Given the description of an element on the screen output the (x, y) to click on. 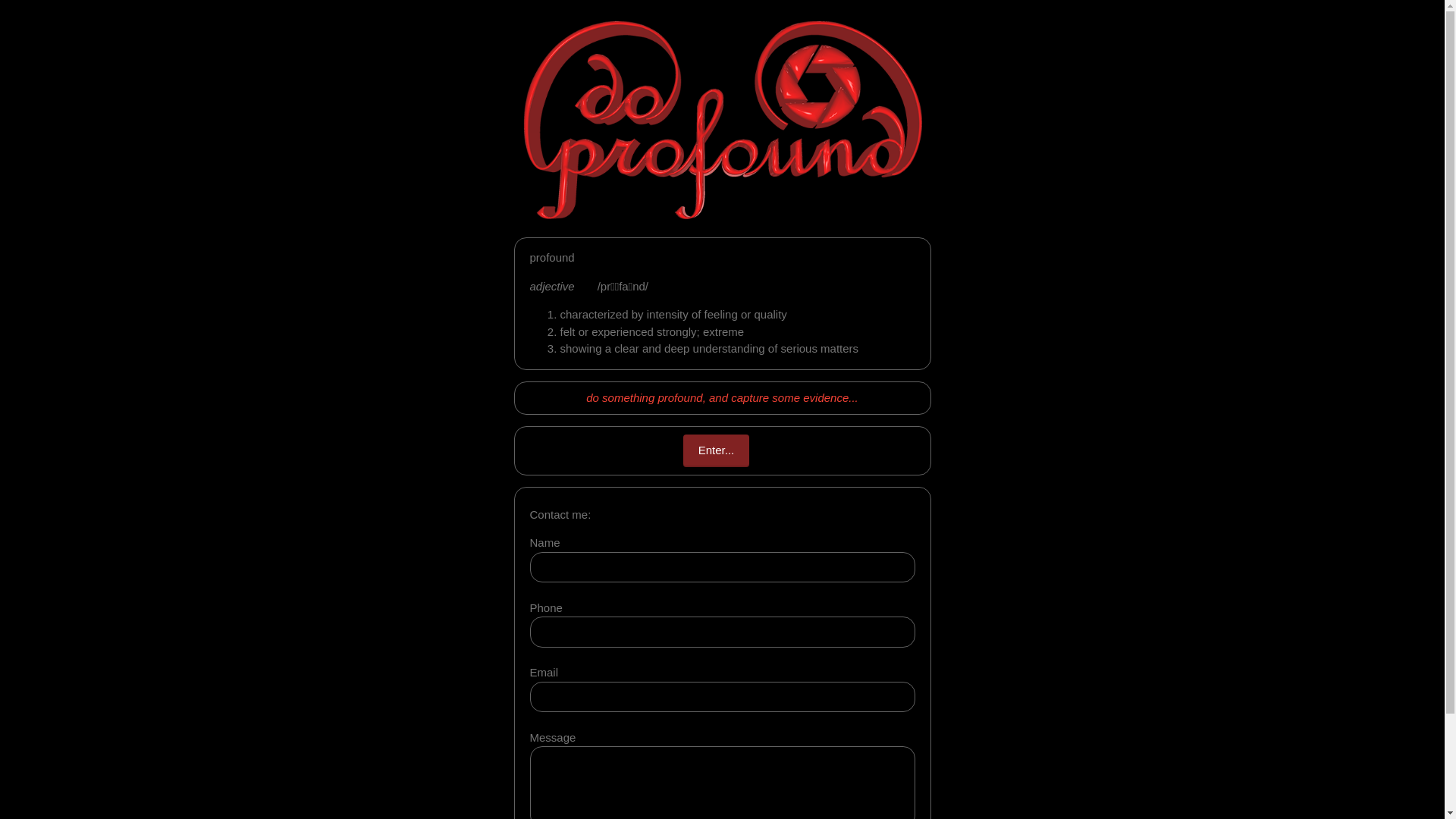
Enter... Element type: text (716, 450)
